Given the description of an element on the screen output the (x, y) to click on. 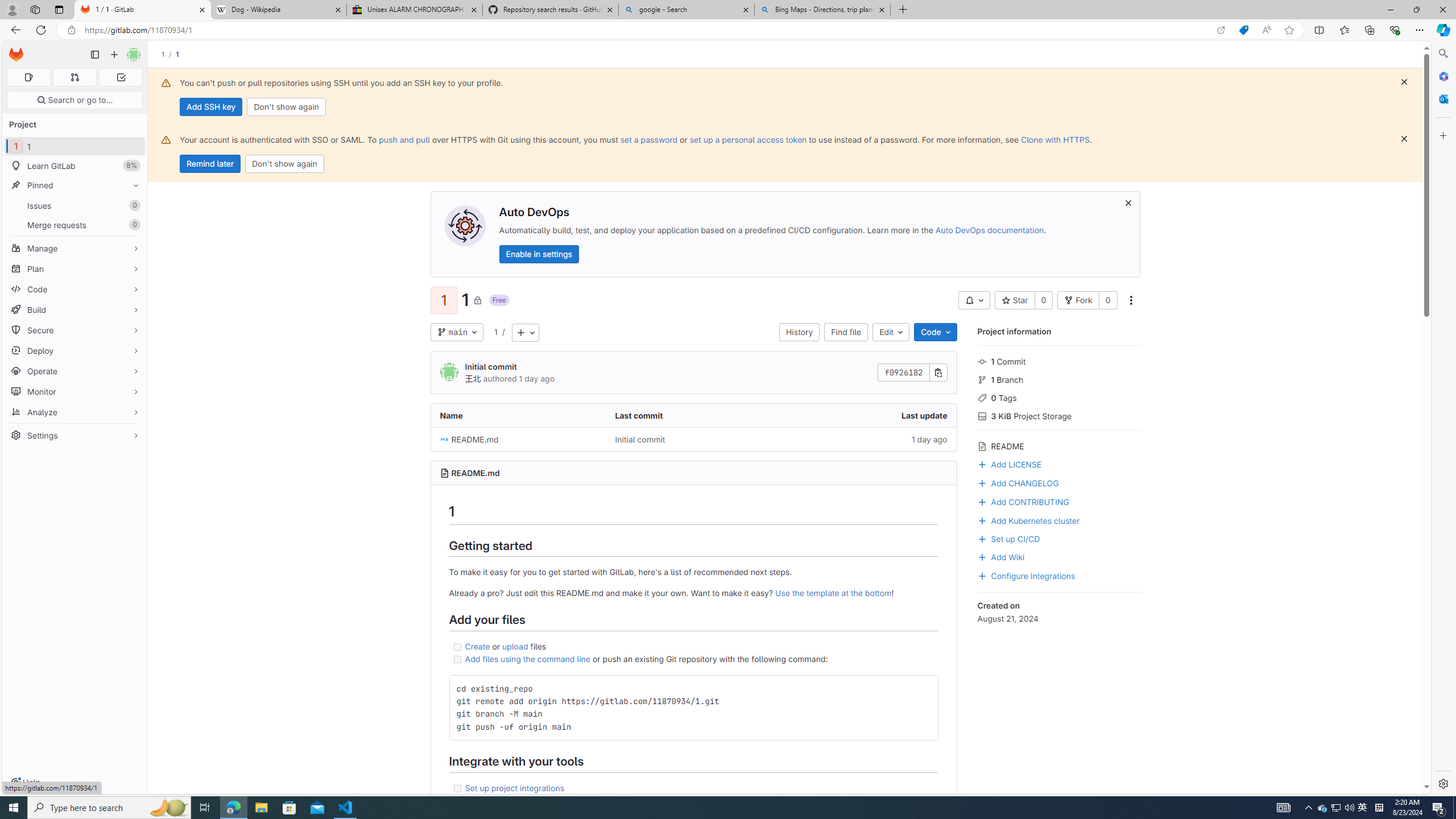
3 KiB Project Storage (1058, 415)
Build (74, 309)
Edit (891, 331)
Class: task-list-item-checkbox (456, 787)
1 Branch (1058, 378)
upload (515, 646)
Class: btn btn-default btn-md gl-button btn-icon has-tooltip (924, 687)
Class: s16 gl-icon gl-button-icon  (1127, 202)
Merge requests 0 (74, 224)
Fork (1078, 300)
Primary navigation sidebar (94, 54)
